Given the description of an element on the screen output the (x, y) to click on. 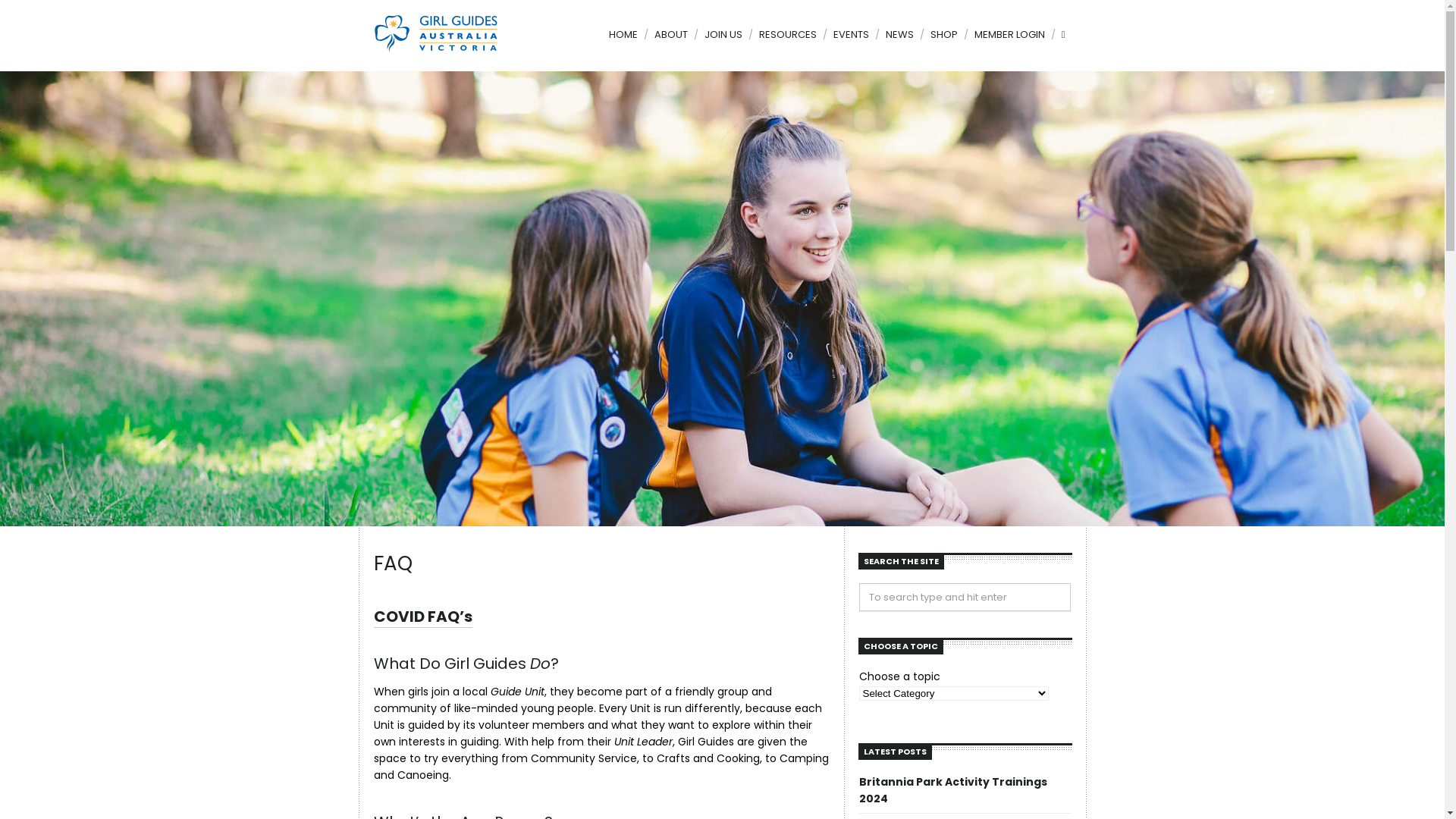
JOIN US Element type: text (720, 42)
EVENTS Element type: text (848, 42)
ABOUT Element type: text (668, 42)
NEWS Element type: text (897, 42)
SHOP Element type: text (941, 42)
RESOURCES Element type: text (785, 42)
Britannia Park Activity Trainings 2024 Element type: text (952, 790)
HOME Element type: text (625, 42)
MEMBER LOGIN Element type: text (1007, 42)
